Given the description of an element on the screen output the (x, y) to click on. 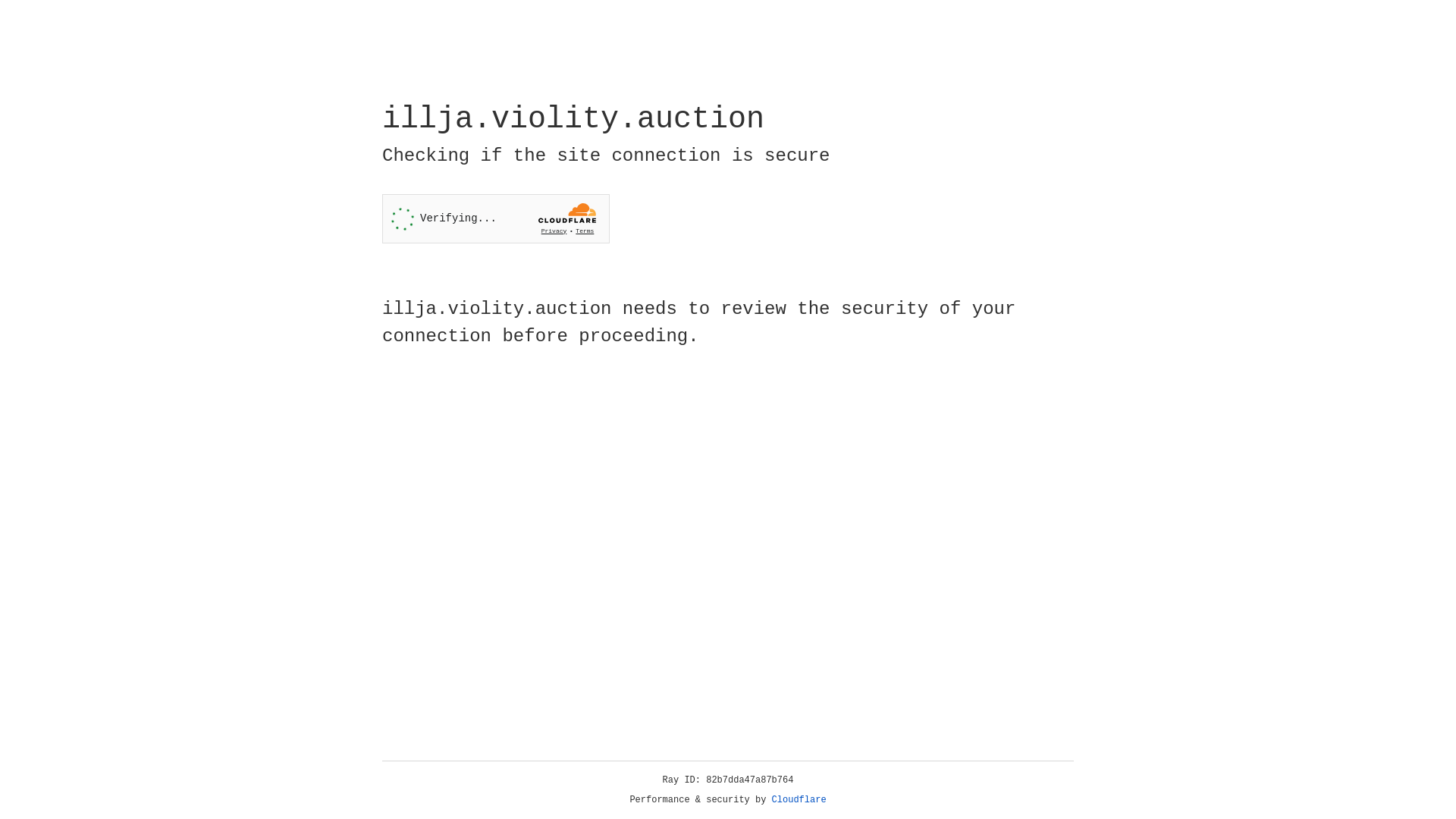
Cloudflare Element type: text (798, 799)
Widget containing a Cloudflare security challenge Element type: hover (495, 218)
